Given the description of an element on the screen output the (x, y) to click on. 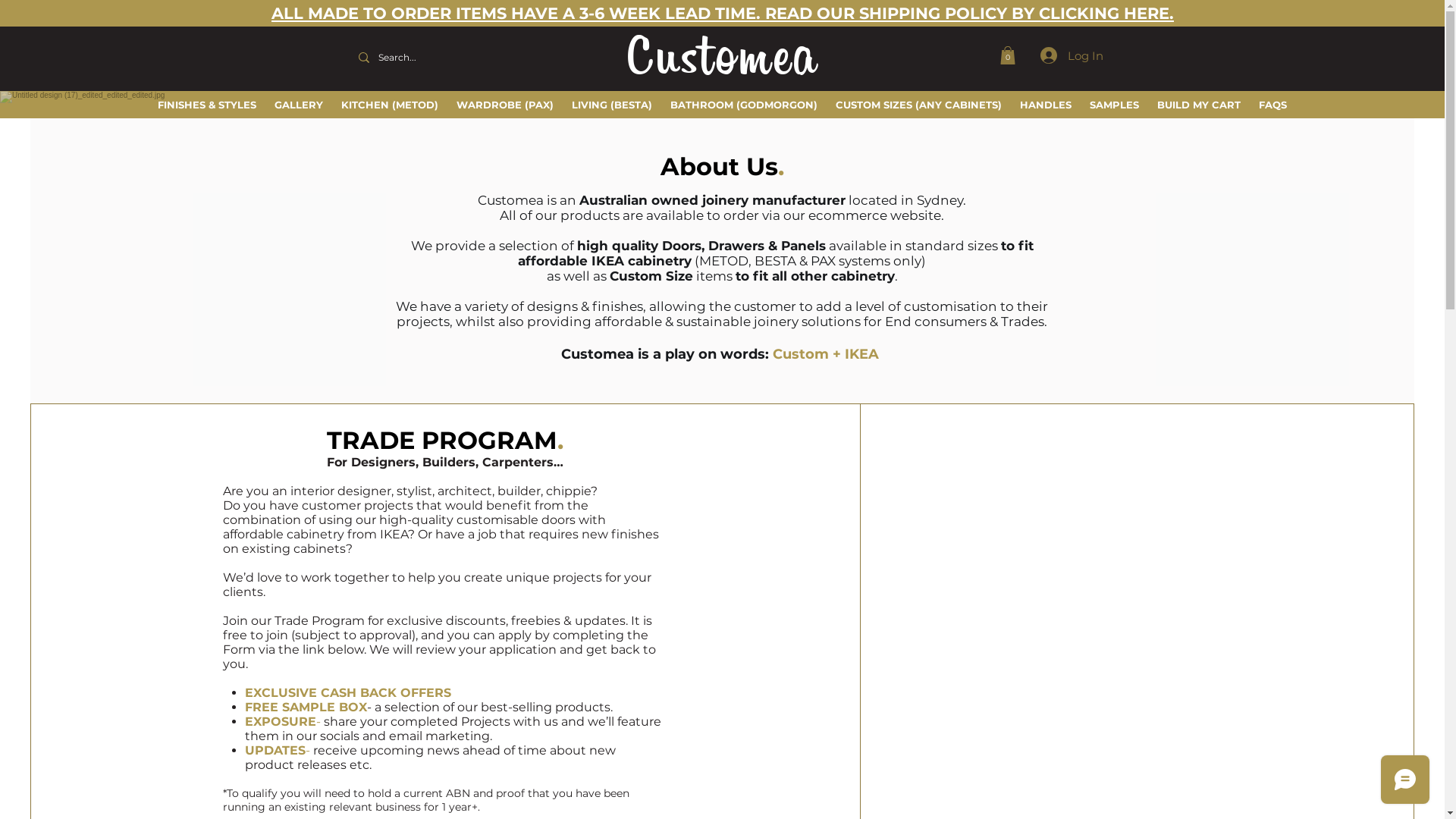
BUILD MY CART Element type: text (1198, 104)
FINISHES & STYLES Element type: text (206, 104)
SAMPLES Element type: text (1114, 104)
Log In Element type: text (1057, 55)
Customea Element type: text (722, 60)
FAQS Element type: text (1272, 104)
0 Element type: text (1006, 55)
CUSTOM SIZES (ANY CABINETS) Element type: text (918, 104)
BATHROOM (GODMORGON) Element type: text (743, 104)
GALLERY Element type: text (298, 104)
